Given the description of an element on the screen output the (x, y) to click on. 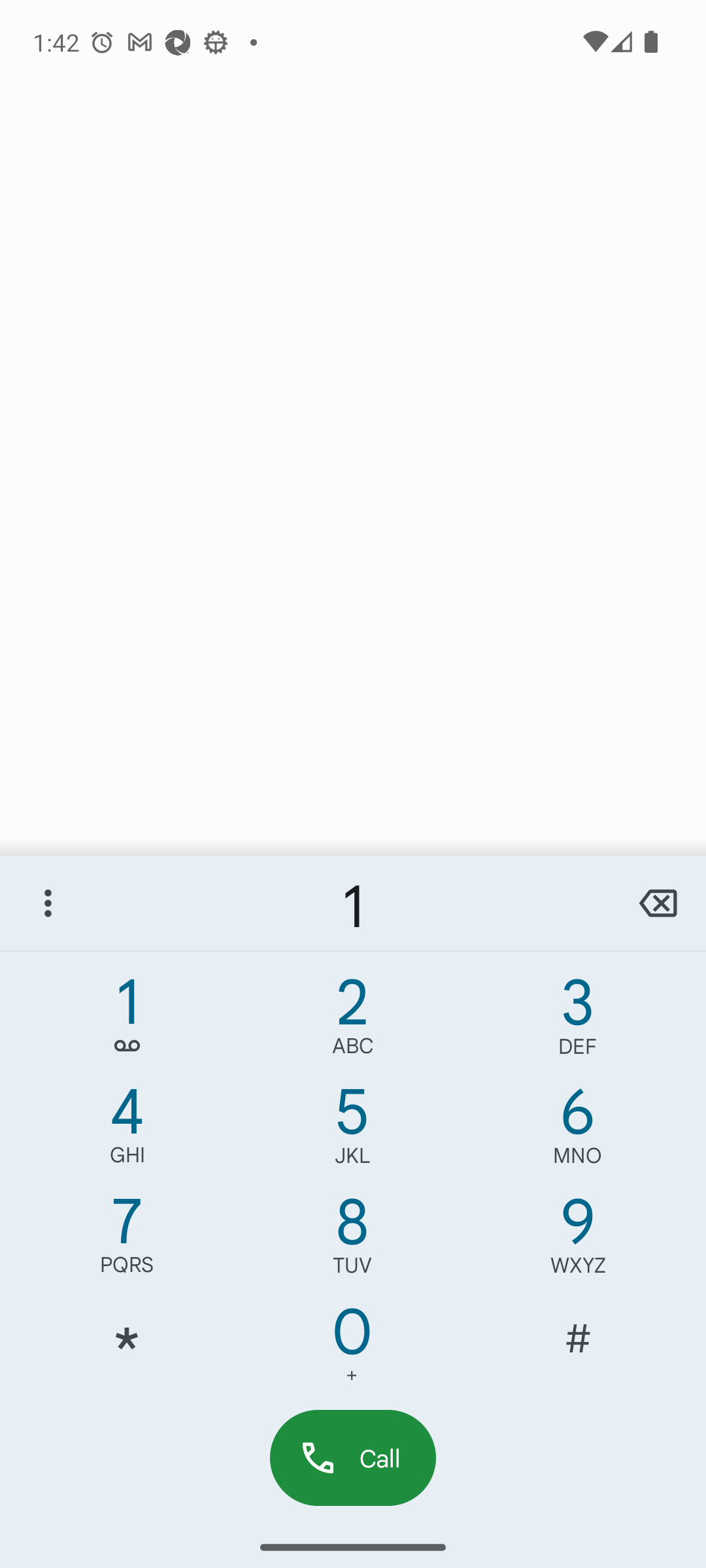
More options (48, 903)
1 (352, 903)
backspace (657, 903)
1, 1 (127, 1020)
2,ABC 2 ABC (352, 1020)
3,DEF 3 DEF (578, 1020)
4,GHI 4 GHI (127, 1130)
5,JKL 5 JKL (352, 1130)
6,MNO 6 MNO (578, 1130)
7,PQRS 7 PQRS (127, 1240)
8,TUV 8 TUV (352, 1240)
9,WXYZ 9 WXYZ (578, 1240)
* (127, 1349)
0 0 + (352, 1349)
# (578, 1349)
Call dial (352, 1457)
